Given the description of an element on the screen output the (x, y) to click on. 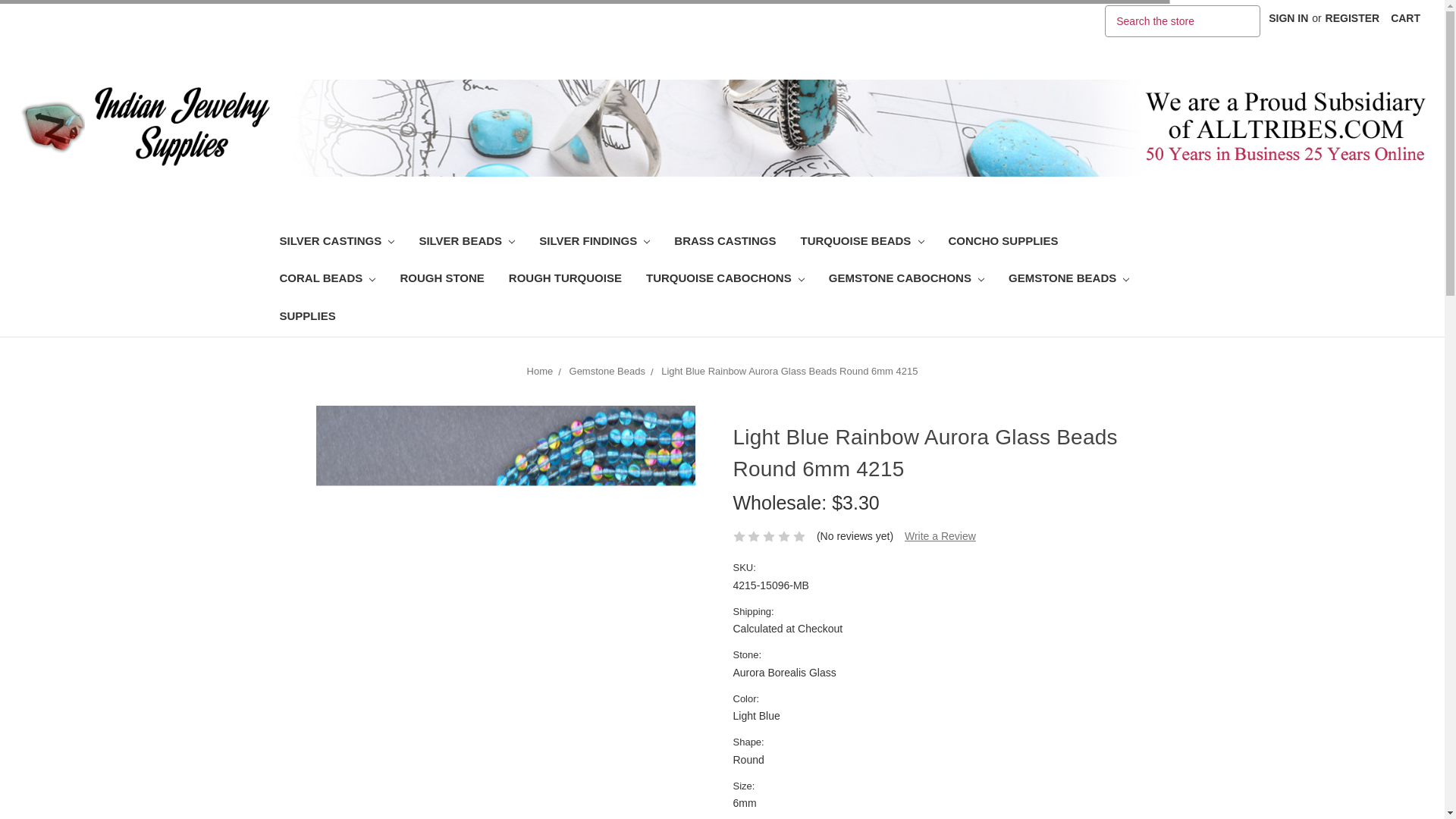
TURQUOISE BEADS (862, 242)
SILVER CASTINGS (336, 242)
BRASS CASTINGS (724, 242)
Indian Jewelry Supply (1285, 126)
CART (1404, 18)
REGISTER (1353, 18)
SILVER BEADS (466, 242)
CORAL BEADS (326, 279)
Indian Jewelry Supply (144, 126)
